Given the description of an element on the screen output the (x, y) to click on. 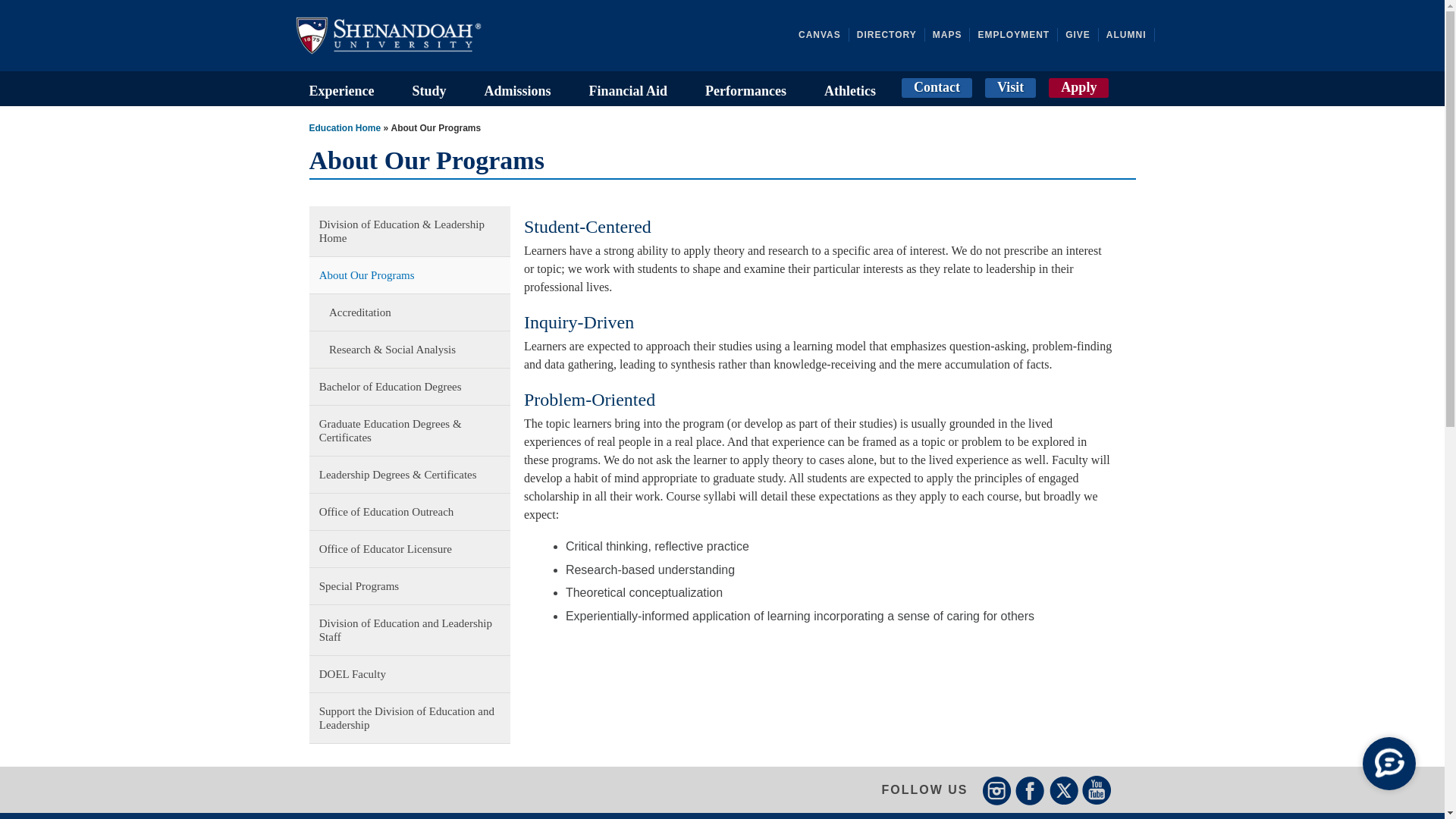
CANVAS (822, 34)
GIVE (1082, 34)
ALUMNI (1130, 34)
Experience (341, 88)
MAPS (952, 34)
Study (428, 88)
DIRECTORY (890, 34)
SHENANDOAH UNIVERSITY (402, 35)
EMPLOYMENT (1017, 34)
